Given the description of an element on the screen output the (x, y) to click on. 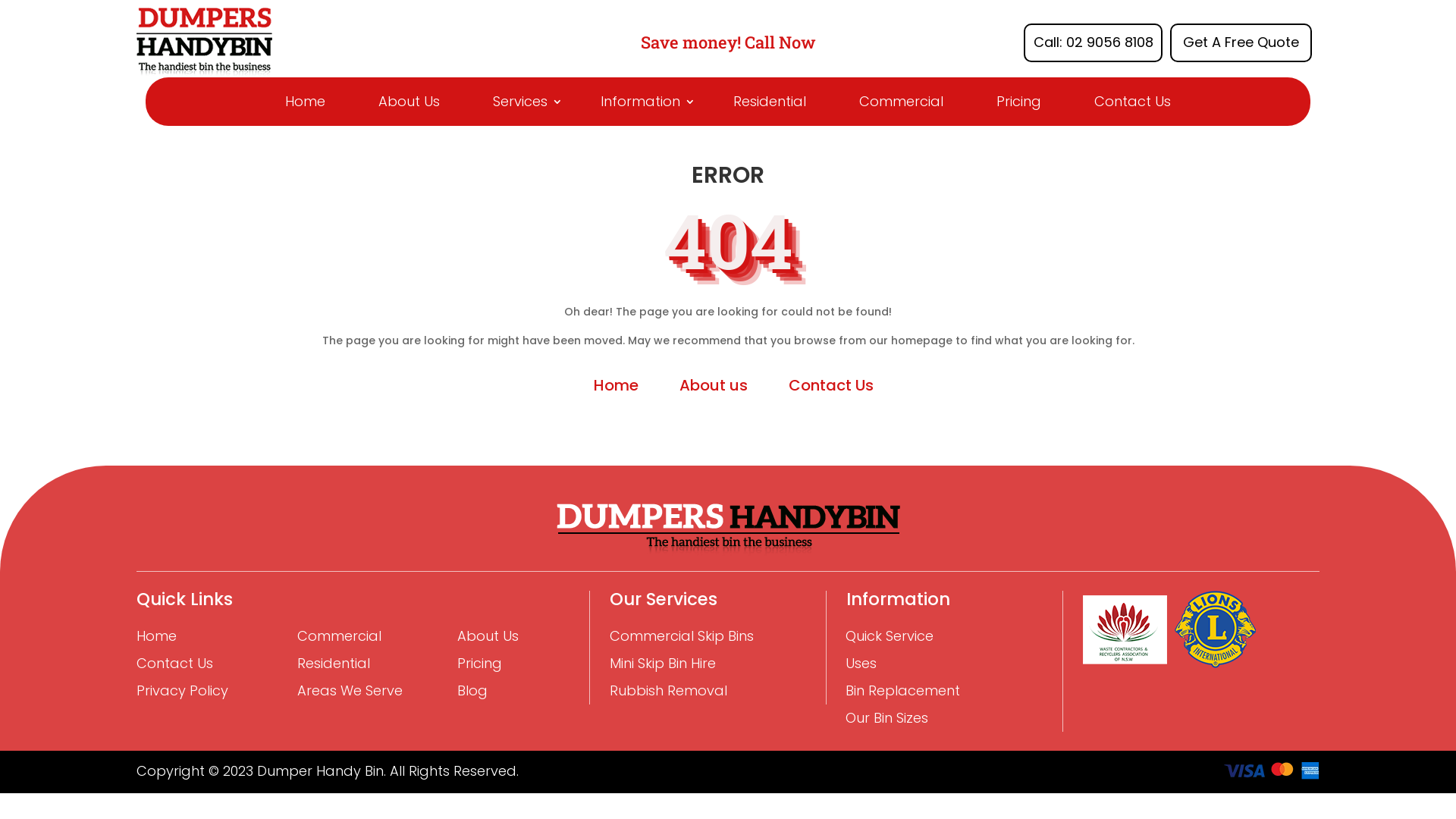
Privacy Policy Element type: text (182, 690)
About Us Element type: text (408, 101)
Home Element type: text (156, 635)
Pricing Element type: text (1018, 101)
Commercial Element type: text (901, 101)
Logo@1X (2) Element type: hover (1271, 770)
Home Element type: text (615, 384)
Information Element type: text (640, 101)
Blog Element type: text (472, 690)
Commercial Element type: text (339, 635)
Residential Element type: text (769, 101)
Rubbish Removal Element type: text (668, 690)
Quick Service Element type: text (889, 635)
Contact Us Element type: text (1132, 101)
Call: 02 9056 8108 Element type: text (1092, 41)
Services Element type: text (519, 101)
Areas We Serve Element type: text (349, 690)
Logo Element type: hover (204, 42)
Contact Us Element type: text (830, 384)
Get A Free Quote Element type: text (1240, 41)
Pricing Element type: text (479, 663)
Search Element type: text (41, 13)
Our Bin Sizes Element type: text (886, 717)
About us Element type: text (713, 384)
About Us Element type: text (487, 635)
Uses Element type: text (860, 663)
Mini Skip Bin Hire Element type: text (662, 663)
Footer Logo Element type: hover (728, 529)
Bin Replacement Element type: text (902, 690)
Residential Element type: text (333, 663)
Contact Us Element type: text (174, 663)
Commercial Skip Bins Element type: text (681, 635)
Home Element type: text (305, 101)
